Given the description of an element on the screen output the (x, y) to click on. 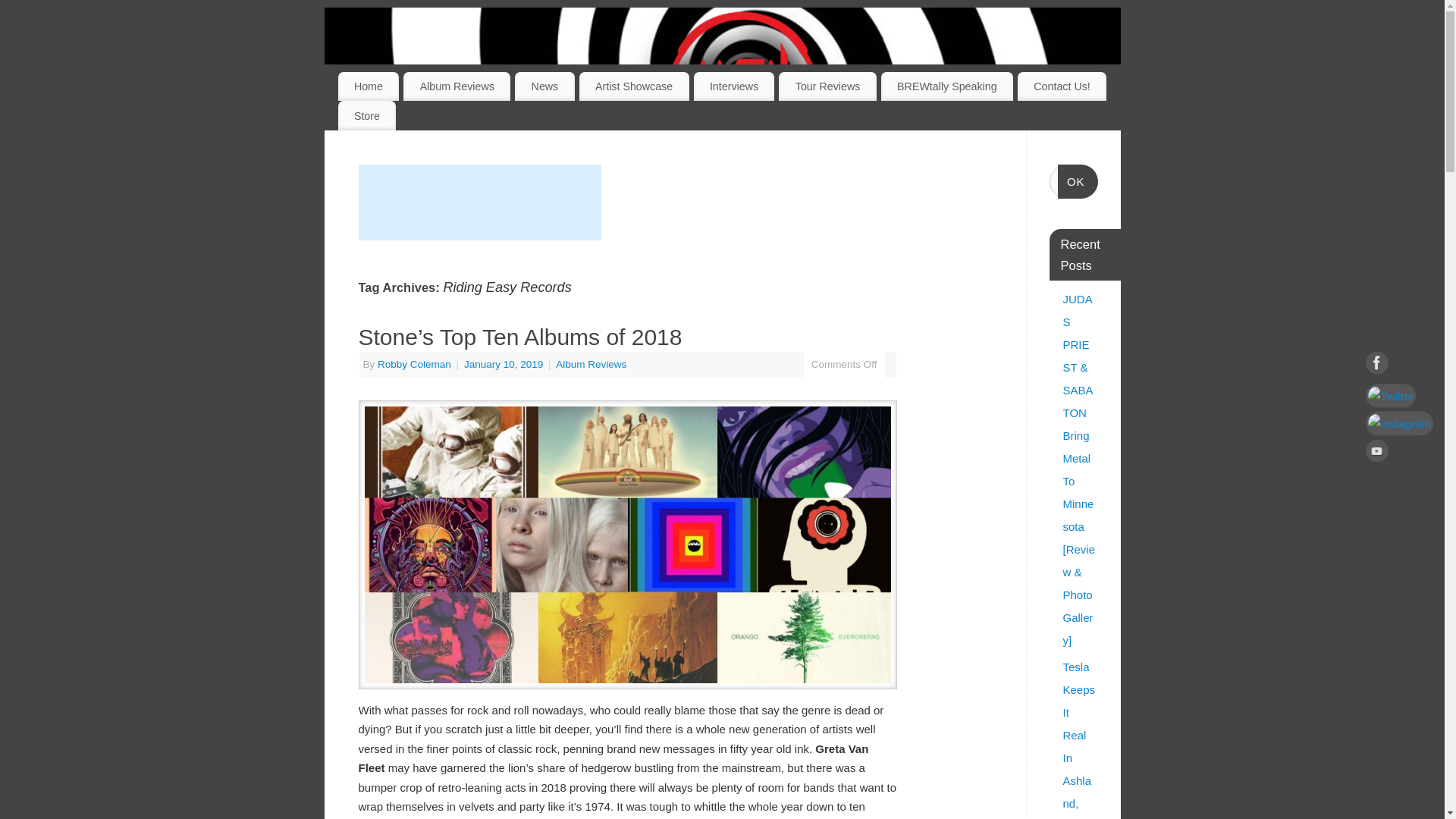
January 10, 2019 (505, 364)
Artist Showcase (633, 86)
Contact Us! (1061, 86)
Facebook (1398, 366)
Tour Reviews (827, 86)
Home (367, 86)
Instagram (1398, 422)
Metal Nexus (741, 82)
News (544, 86)
Robby Coleman (414, 364)
BREWtally Speaking (946, 86)
10:06 am (505, 364)
View all posts by Robby Coleman (414, 364)
Album Reviews (591, 364)
Twitter (1398, 395)
